Given the description of an element on the screen output the (x, y) to click on. 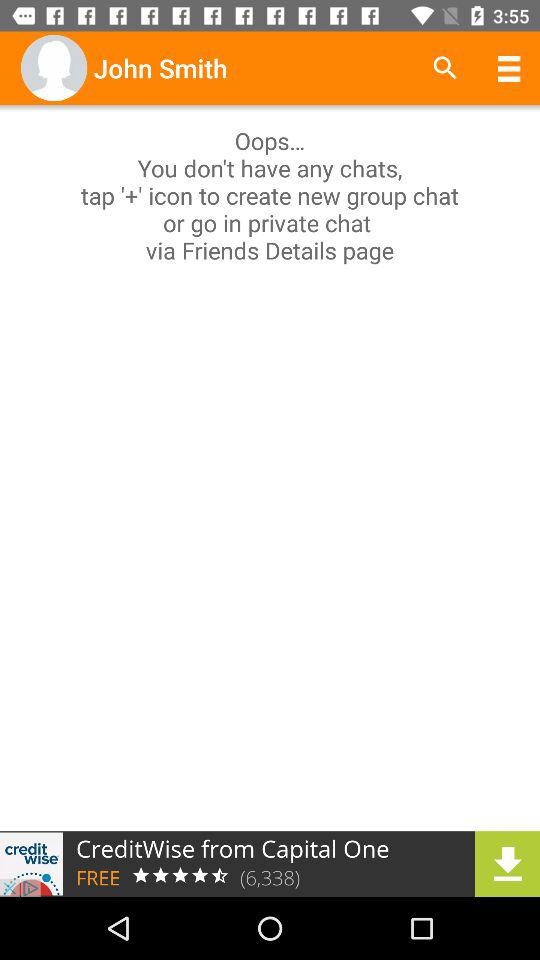
advertising (270, 864)
